Given the description of an element on the screen output the (x, y) to click on. 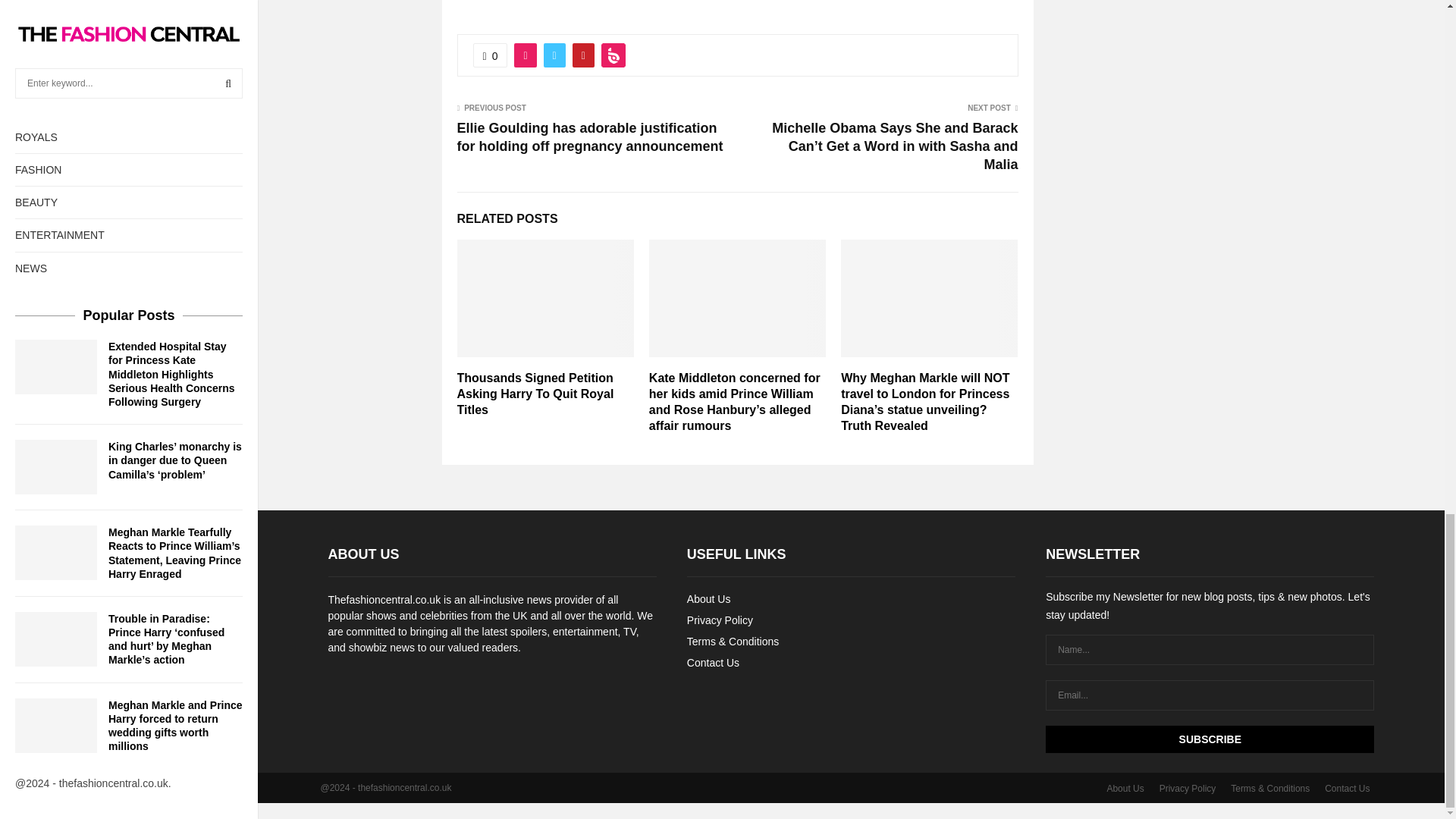
Subscribe (1209, 738)
Thousands Signed Petition Asking Harry To Quit Royal Titles (534, 393)
0 (490, 55)
